Given the description of an element on the screen output the (x, y) to click on. 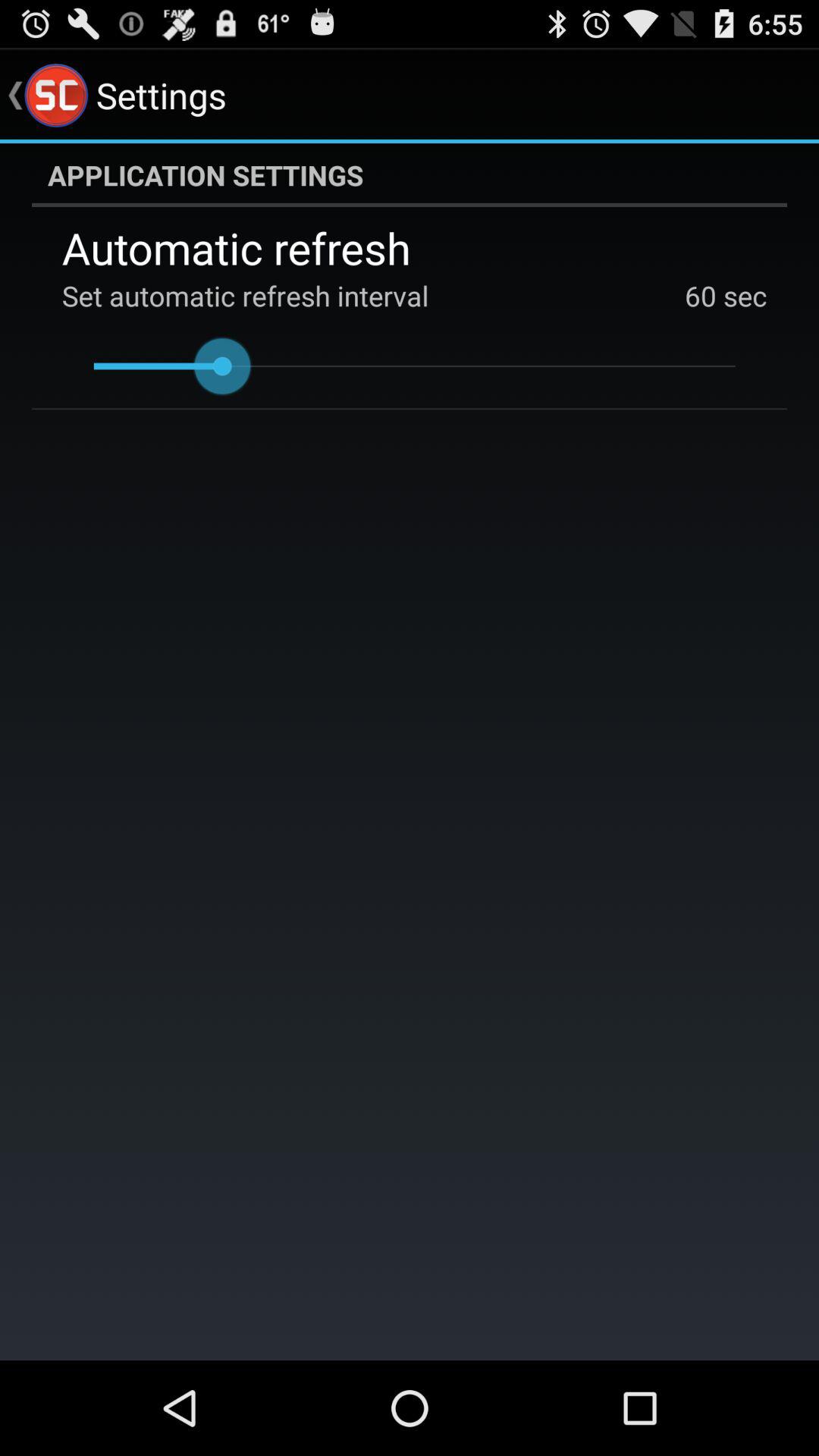
select the item below automatic refresh item (700, 295)
